Given the description of an element on the screen output the (x, y) to click on. 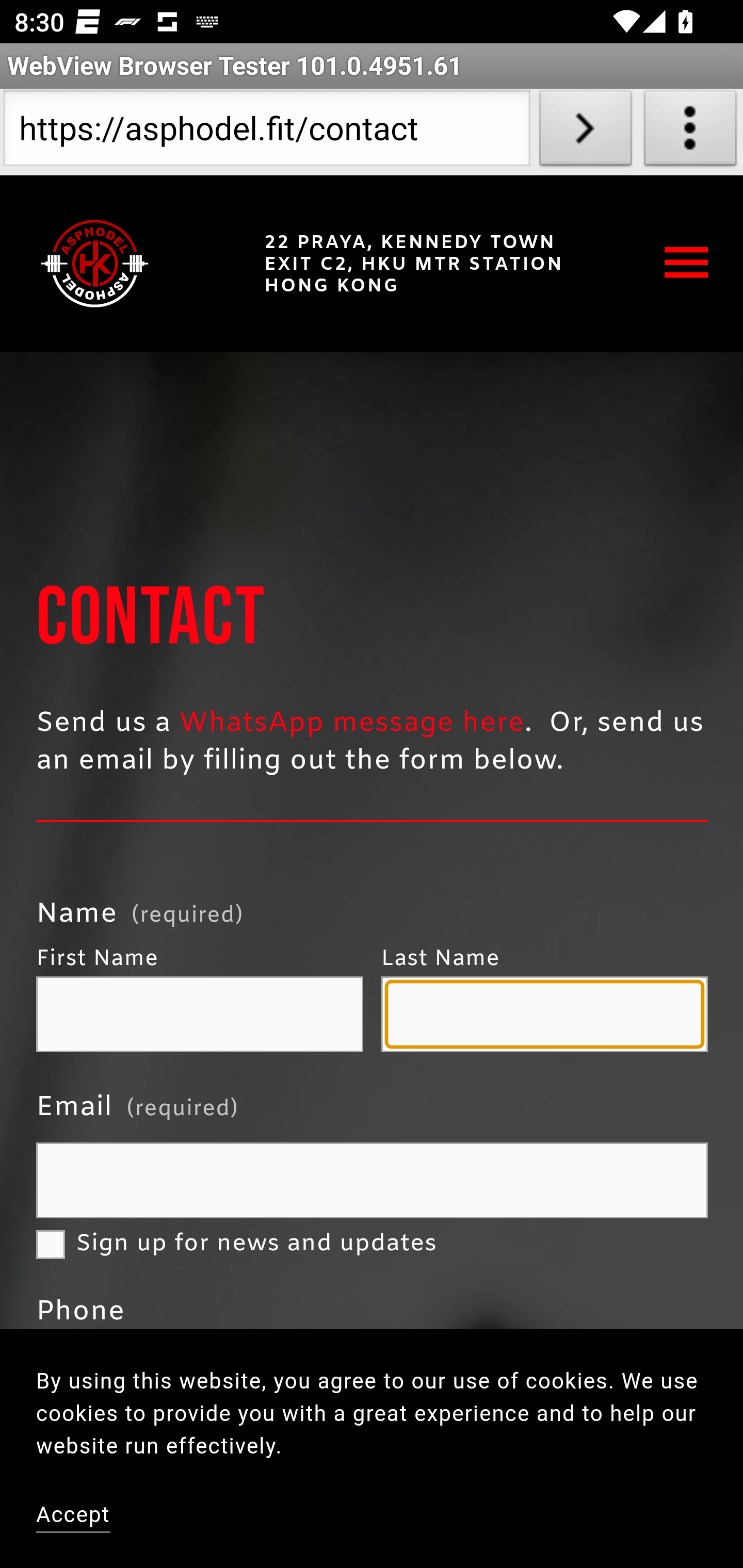
https://asphodel.fit/contact (266, 132)
Load URL (585, 132)
About WebView (690, 132)
Asphodel Fitness (95, 263)
Open navigation menu (686, 262)
WhatsApp message here (351, 723)
Sign up for news and updates (50, 1244)
Accept (74, 1516)
